Given the description of an element on the screen output the (x, y) to click on. 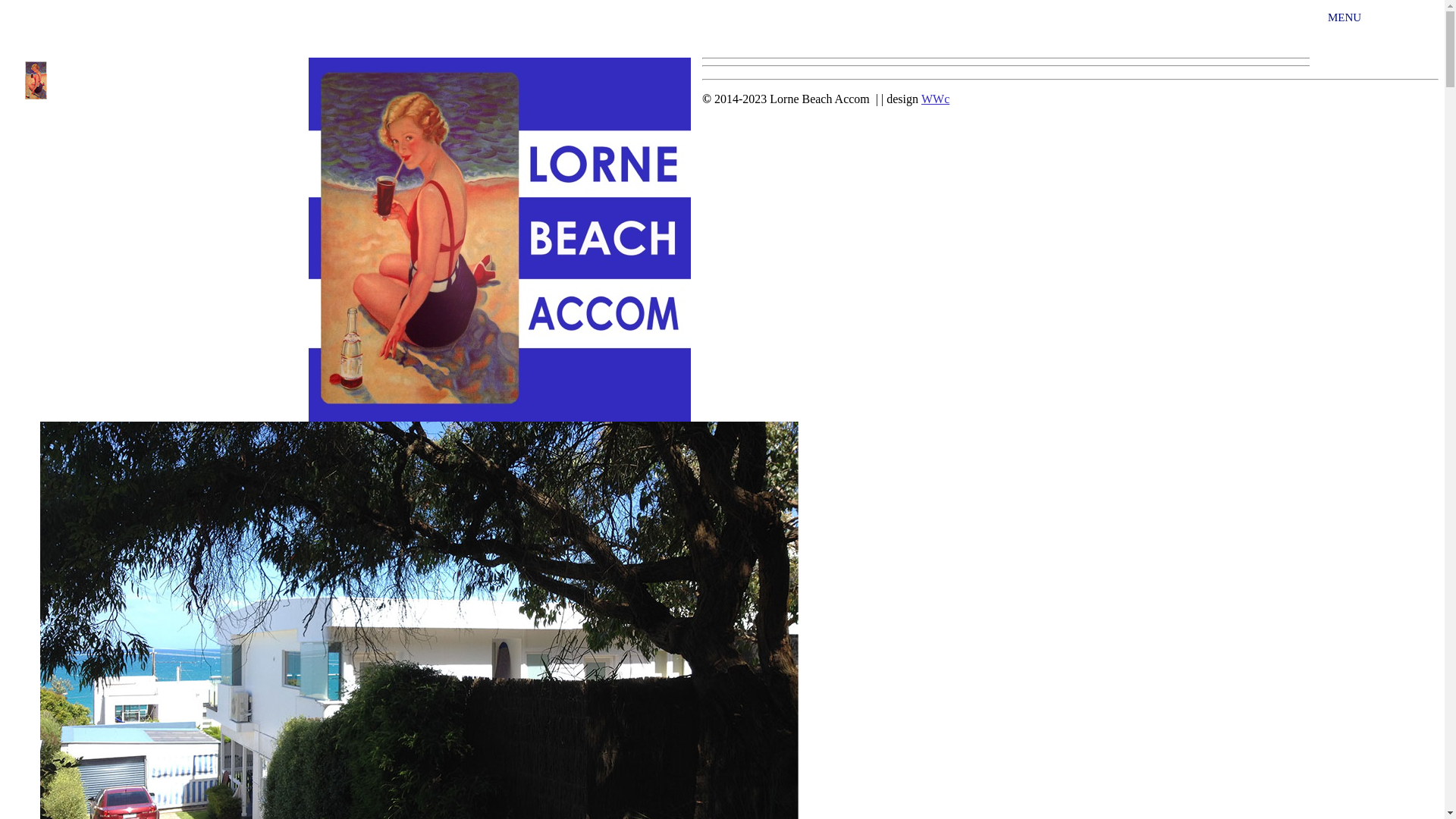
MENU   Element type: text (1376, 36)
WWc Element type: text (935, 98)
